Given the description of an element on the screen output the (x, y) to click on. 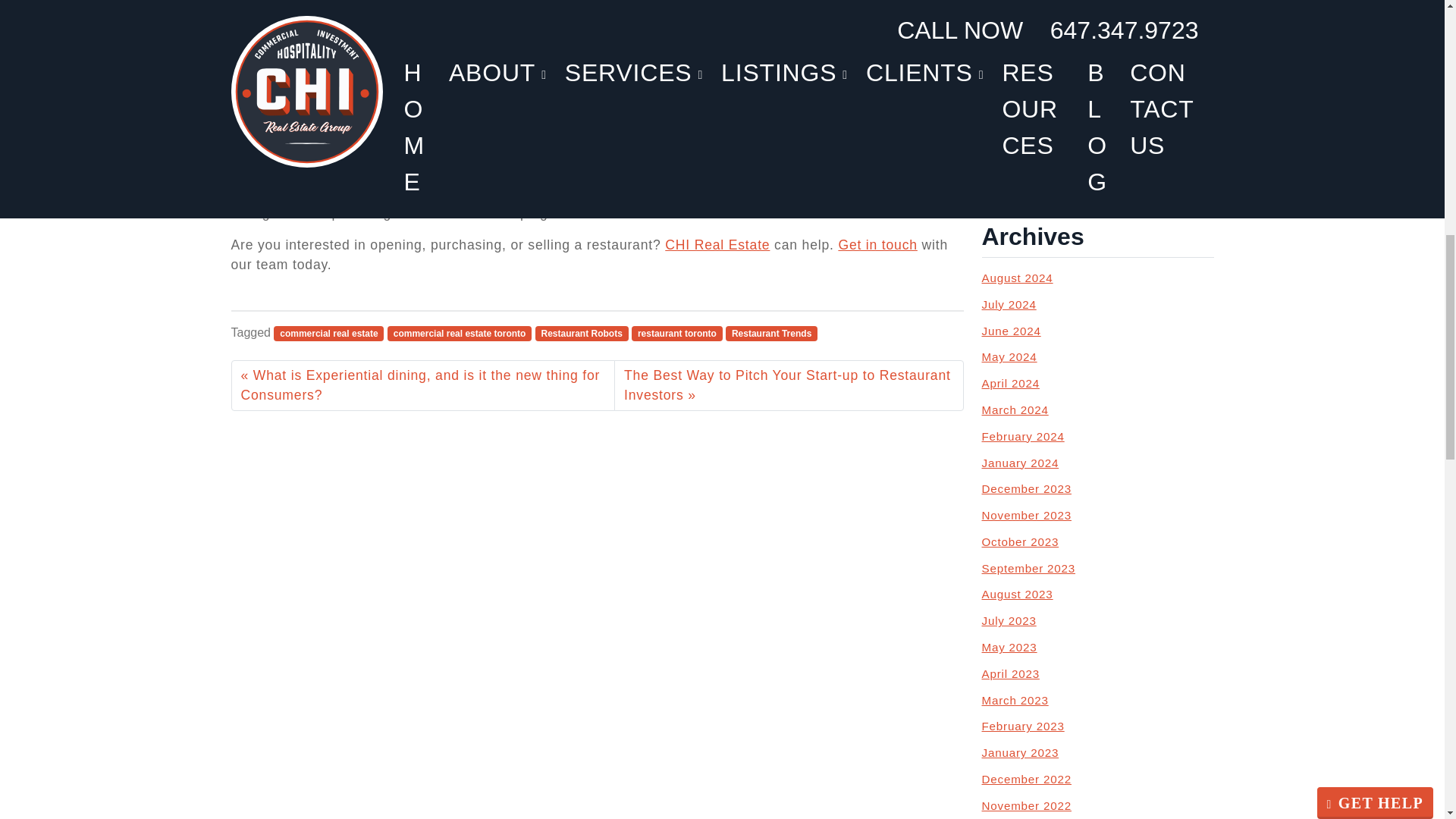
commercial real estate (328, 333)
CHI Real Estate (717, 244)
Get in touch (877, 244)
